Given the description of an element on the screen output the (x, y) to click on. 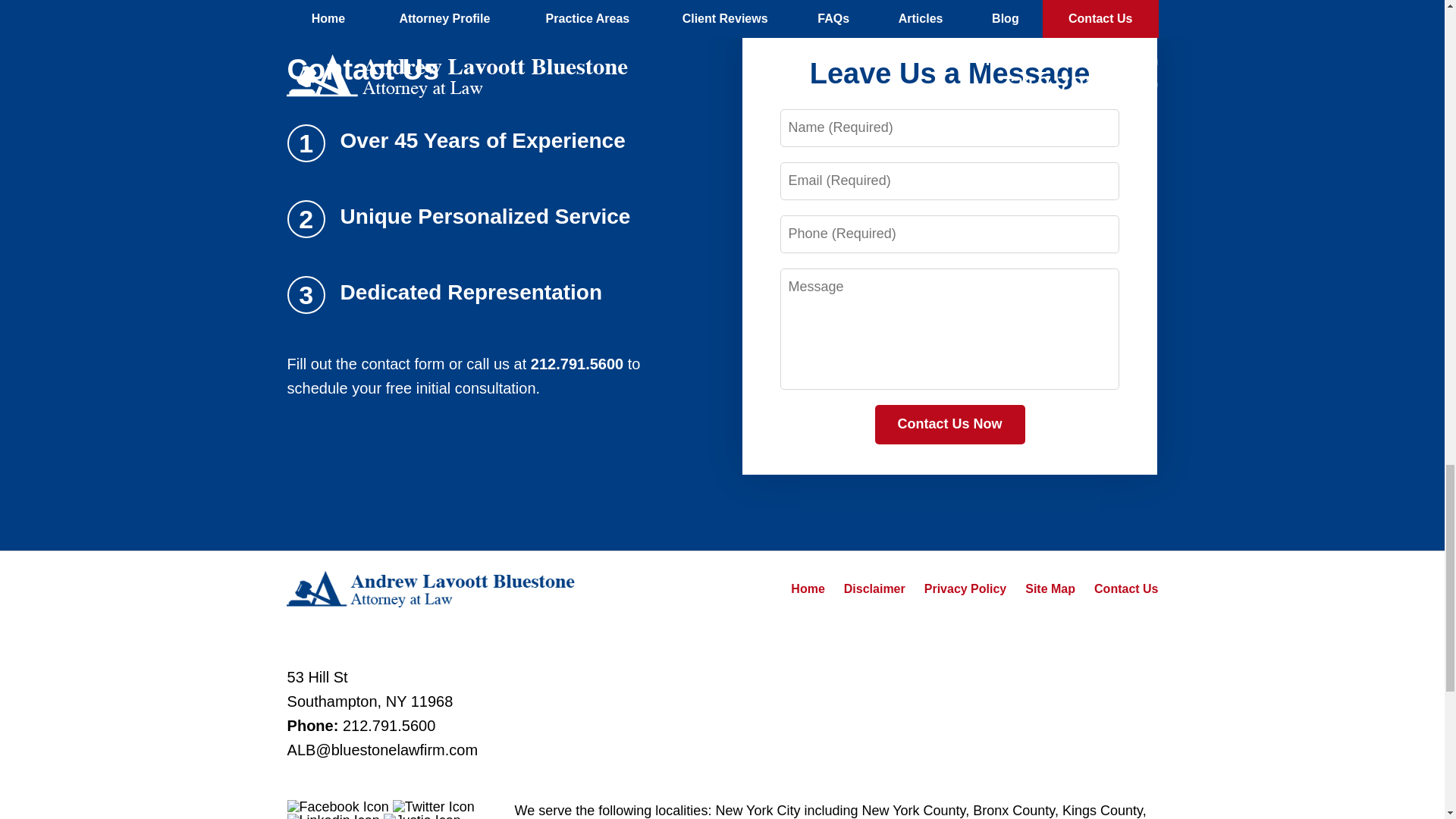
Justia (422, 816)
Linkedin (333, 816)
Twitter (433, 807)
Contact Us Now (950, 424)
212.791.5600 (388, 725)
Facebook (337, 807)
